Given the description of an element on the screen output the (x, y) to click on. 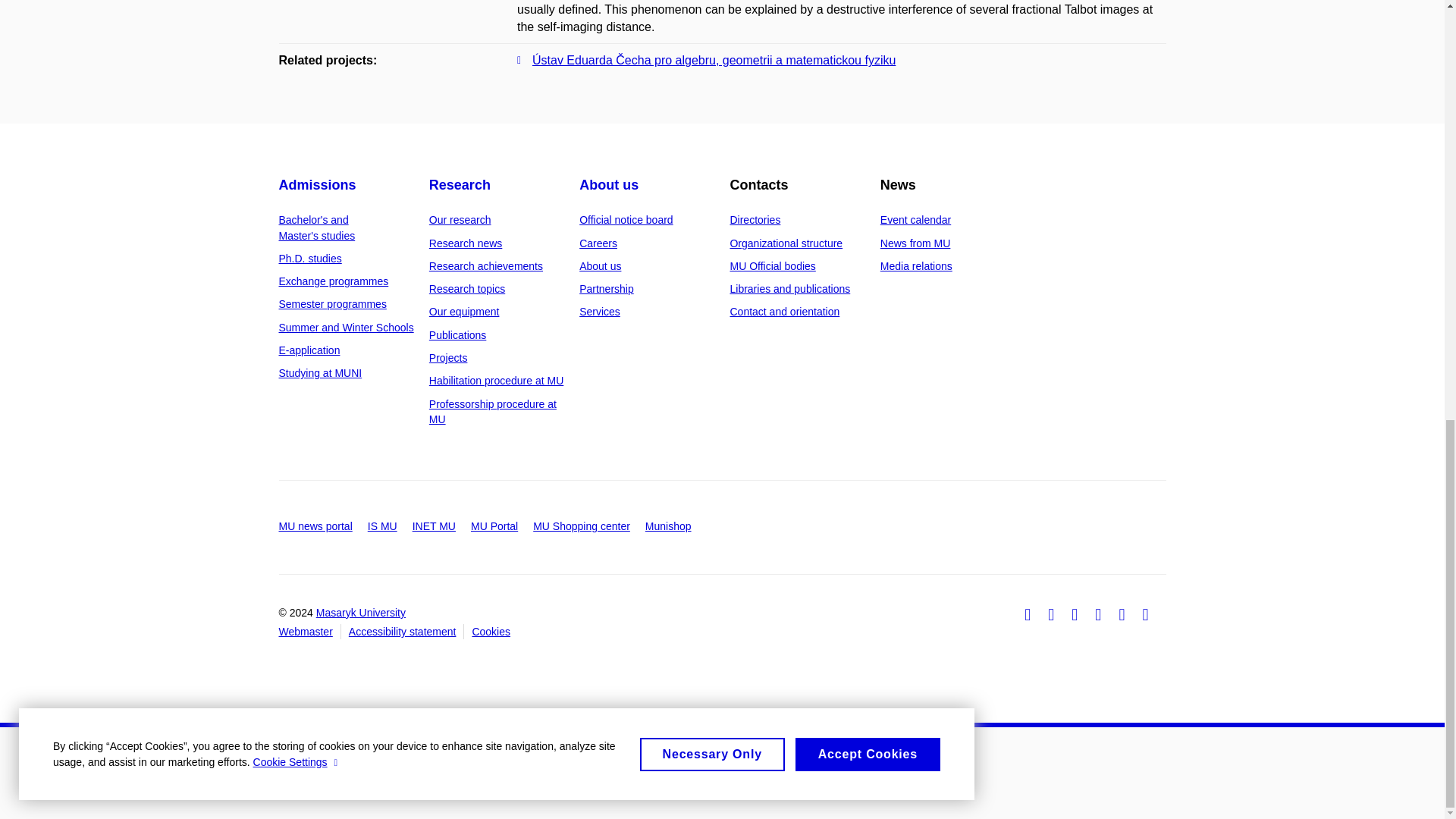
Research news (465, 243)
Ph.D. studies (310, 258)
Our equipment (464, 311)
Research achievements (486, 265)
Summer and Winter Schools (346, 327)
Projects (448, 357)
Admissions (317, 184)
Our research (460, 219)
Exchange programmes (333, 281)
Publications (457, 335)
Research topics (467, 288)
Studying at MUNI (320, 372)
Research (459, 184)
Semester programmes (333, 304)
